Given the description of an element on the screen output the (x, y) to click on. 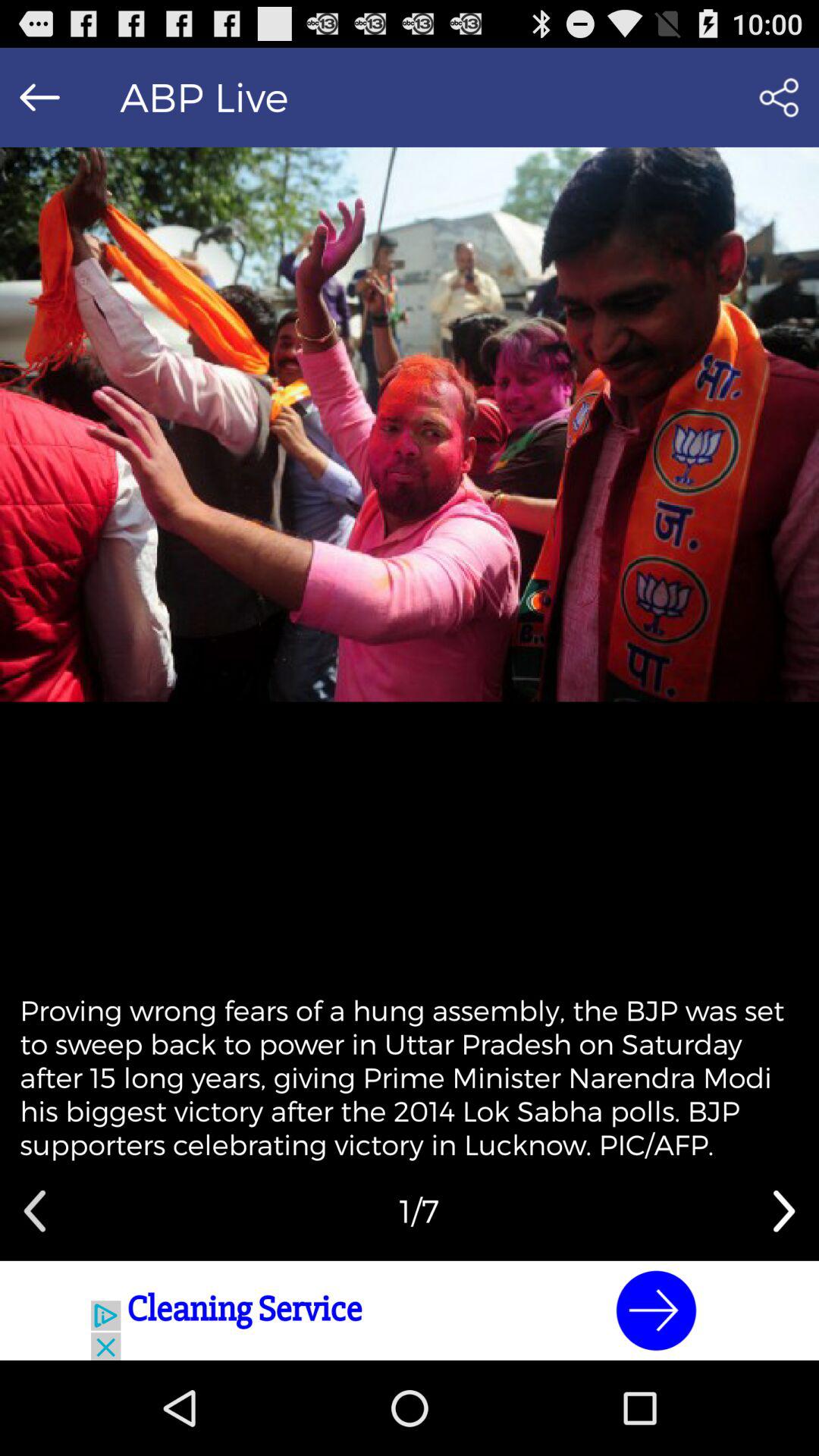
back (34, 1211)
